Given the description of an element on the screen output the (x, y) to click on. 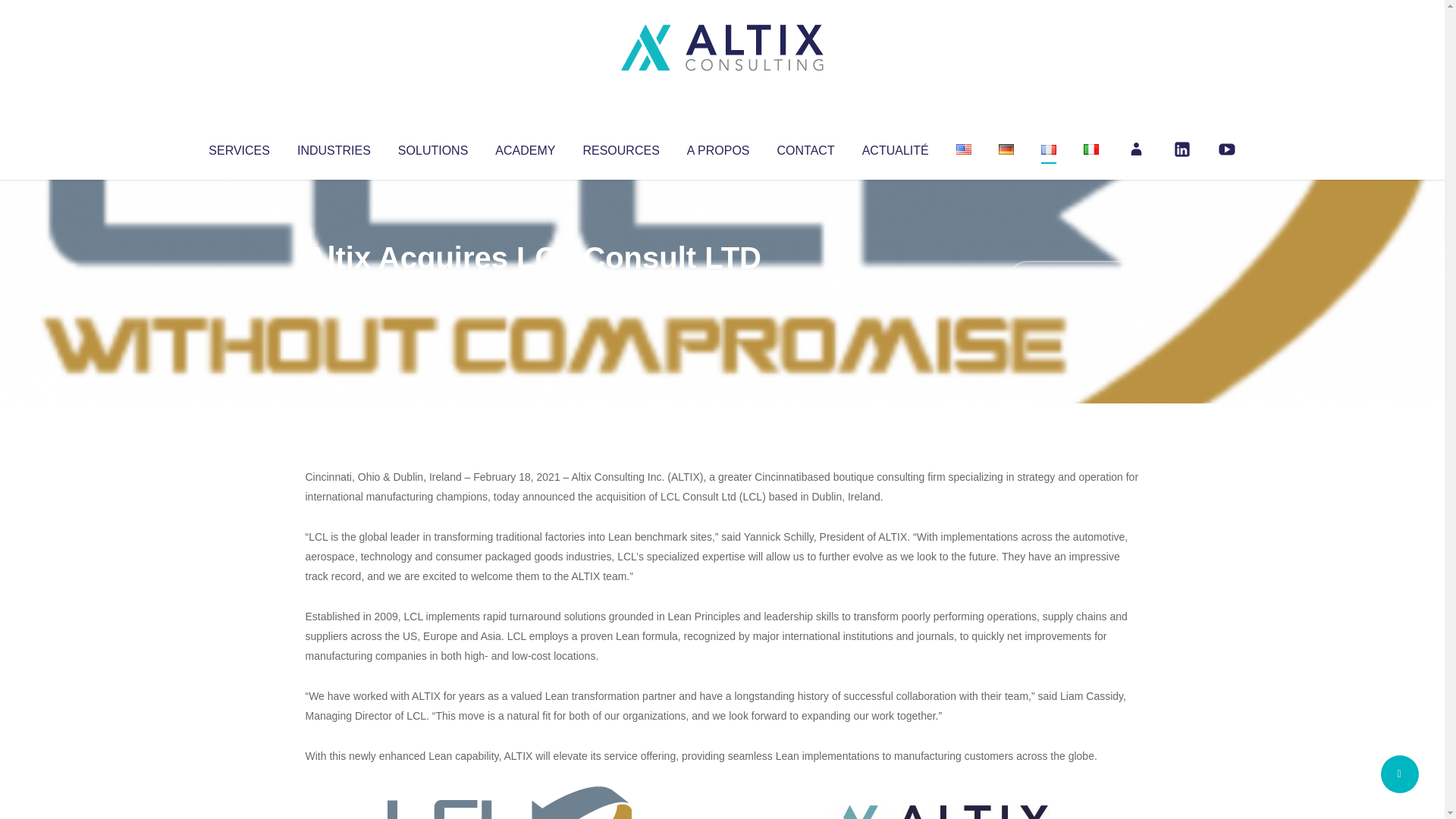
ACADEMY (524, 146)
Articles par Altix (333, 287)
SERVICES (238, 146)
RESOURCES (620, 146)
SOLUTIONS (432, 146)
A PROPOS (718, 146)
INDUSTRIES (334, 146)
Altix (333, 287)
Uncategorized (530, 287)
No Comments (1073, 278)
